Given the description of an element on the screen output the (x, y) to click on. 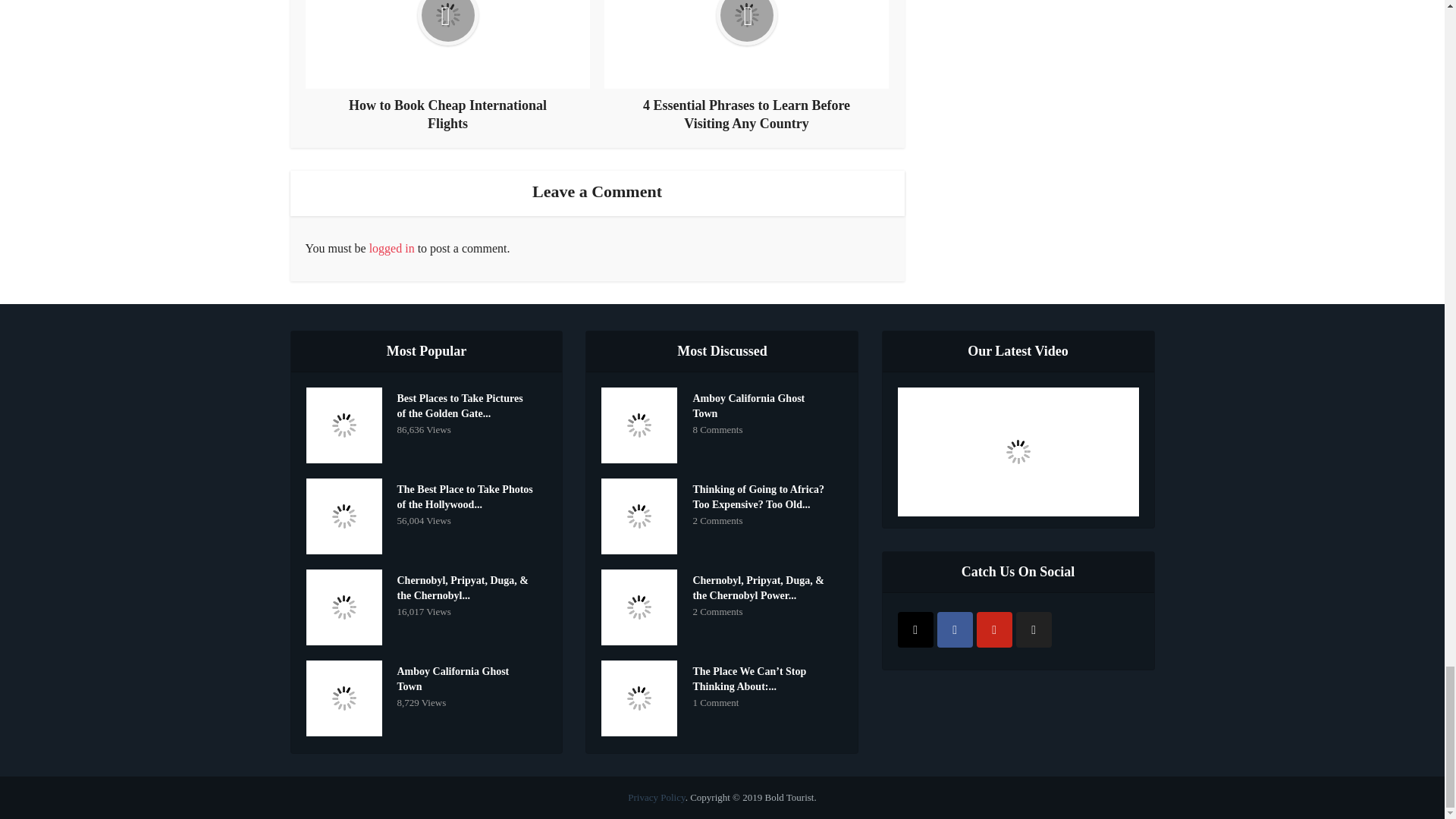
The Best Place to Take Photos of the Hollywood Sign (469, 495)
Amboy California Ghost Town (469, 677)
Best Places to Take Pictures of the Golden Gate Bridge (469, 404)
Amboy California Ghost Town (764, 404)
